Given the description of an element on the screen output the (x, y) to click on. 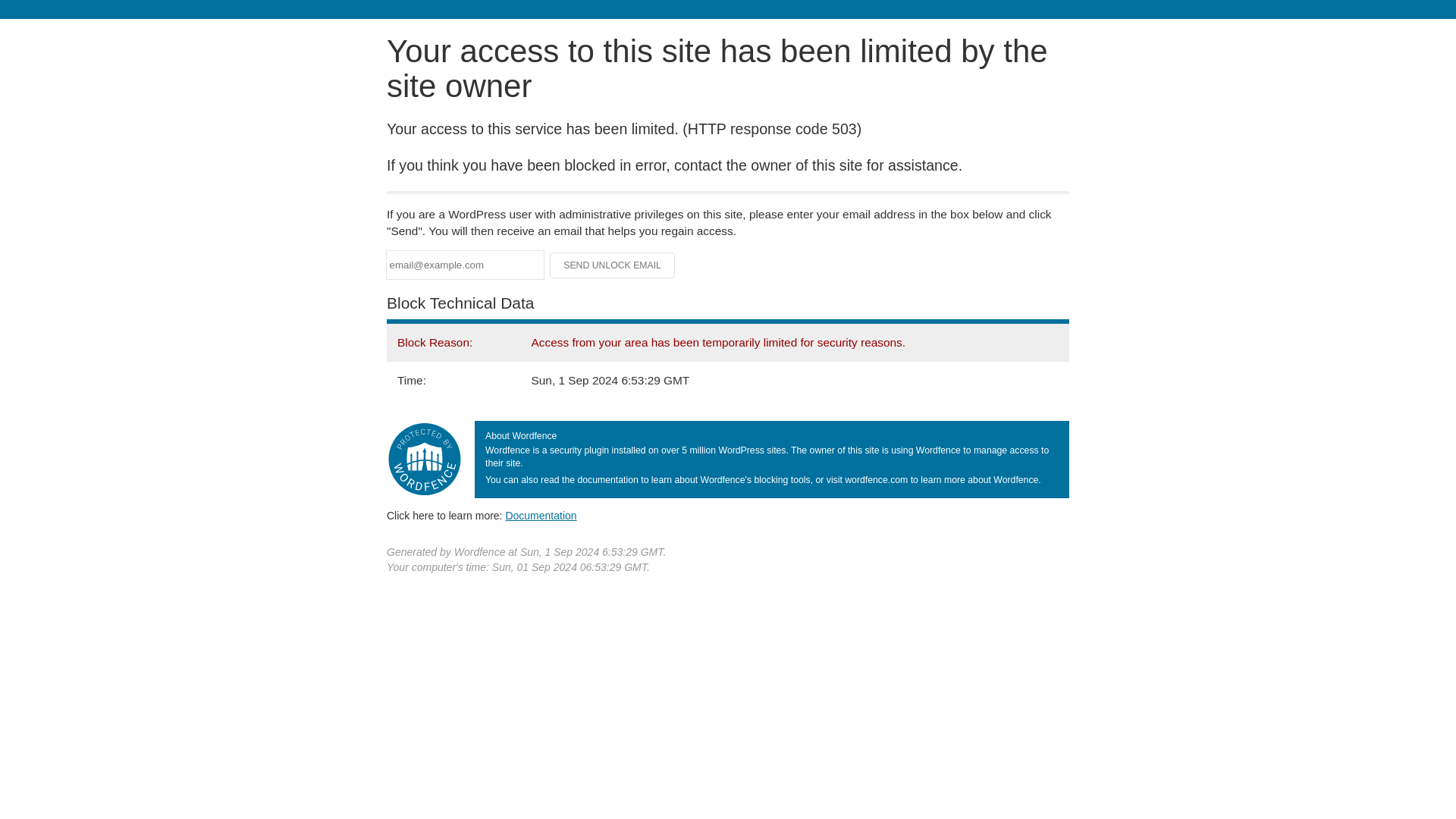
Documentation (540, 515)
Send Unlock Email (612, 265)
Send Unlock Email (612, 265)
